Given the description of an element on the screen output the (x, y) to click on. 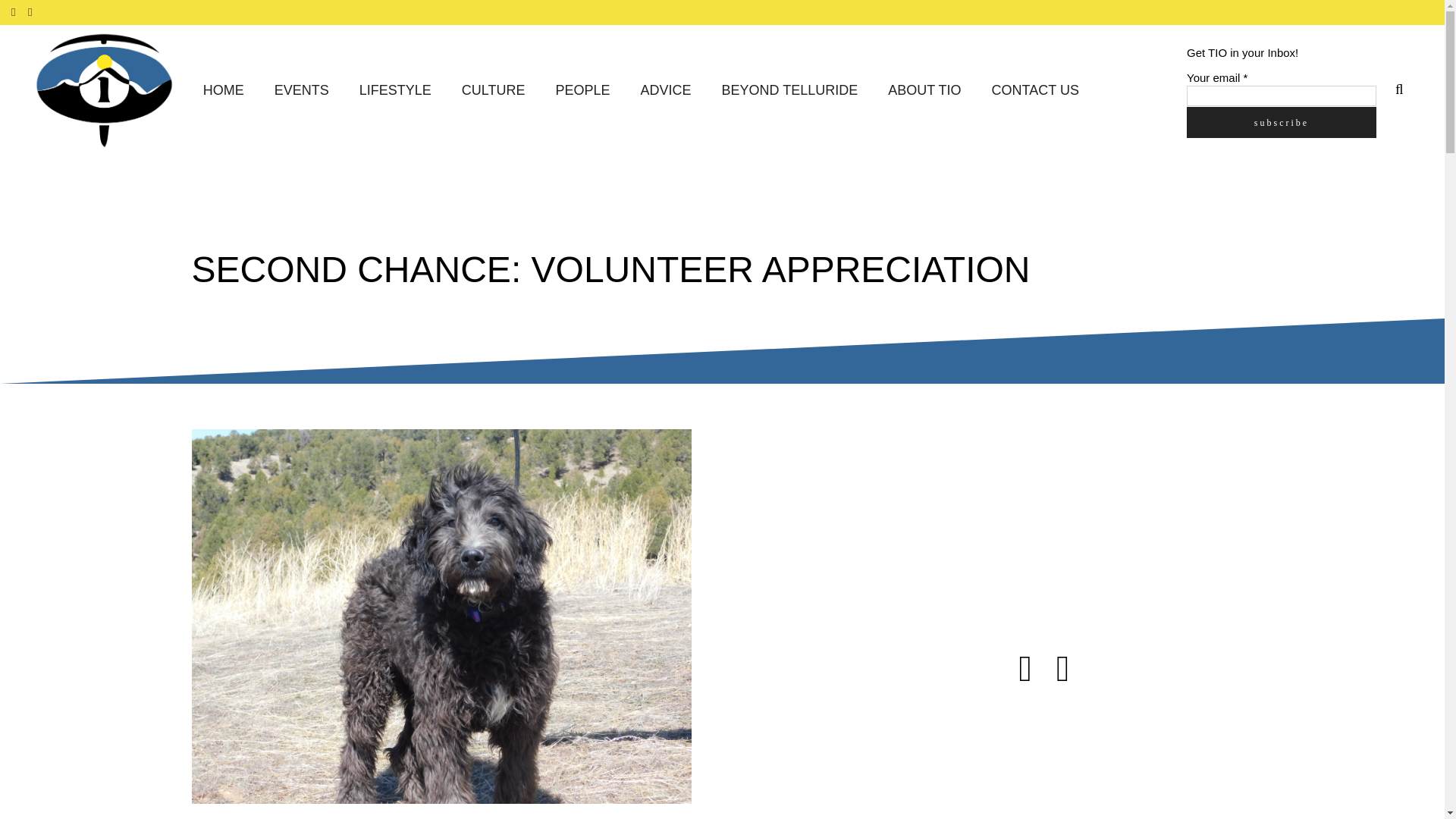
Subscribe (1280, 121)
Your email (1280, 95)
BEYOND TELLURIDE (789, 90)
Subscribe (1280, 121)
3rd party ad content (1116, 760)
3rd party ad content (1116, 524)
CONTACT US (1035, 90)
